Given the description of an element on the screen output the (x, y) to click on. 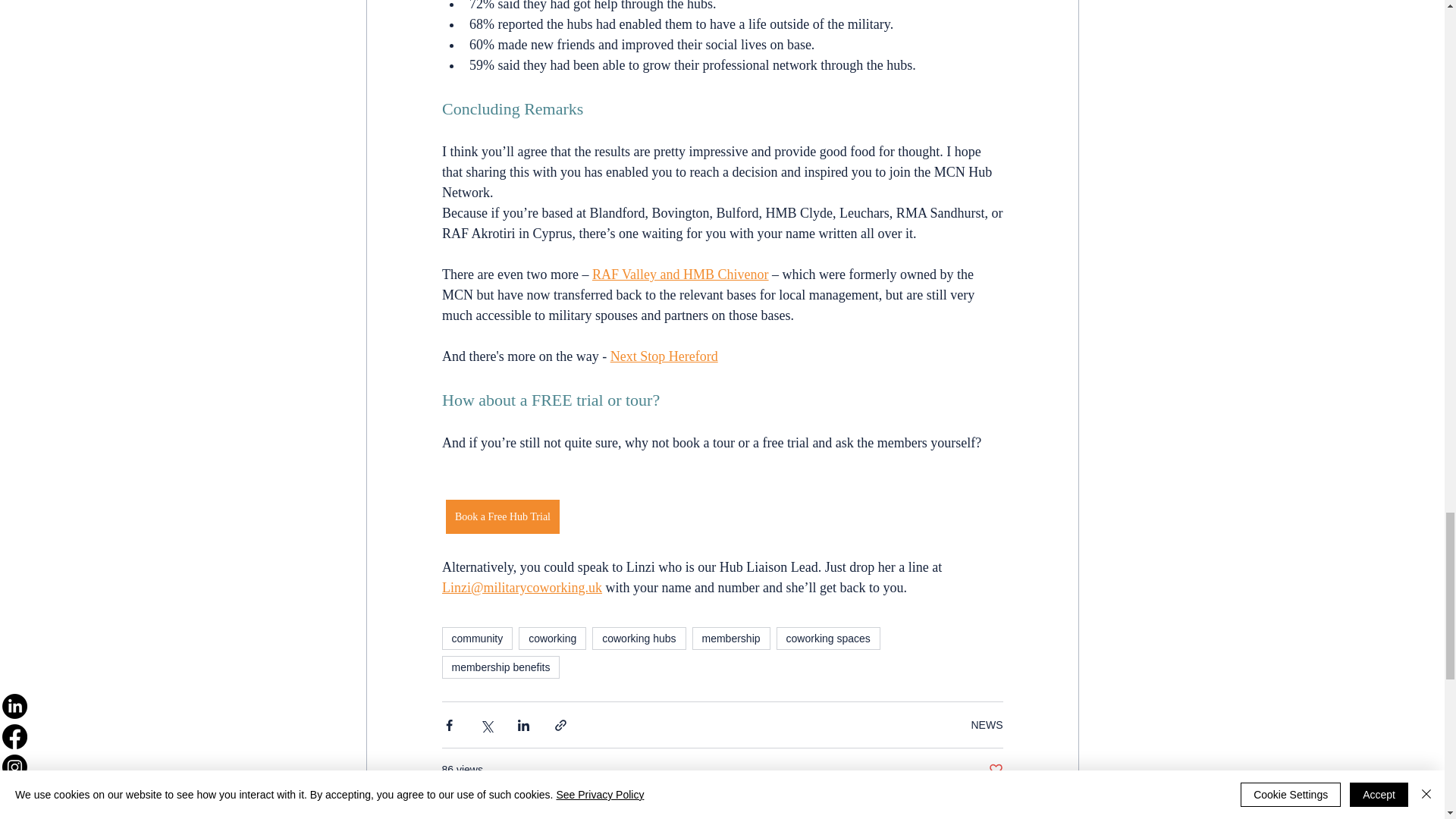
Book a Free Hub Trial (502, 516)
Next Stop Hereford (663, 355)
coworking (552, 638)
community (476, 638)
RAF Valley and HMB Chivenor (679, 273)
